Given the description of an element on the screen output the (x, y) to click on. 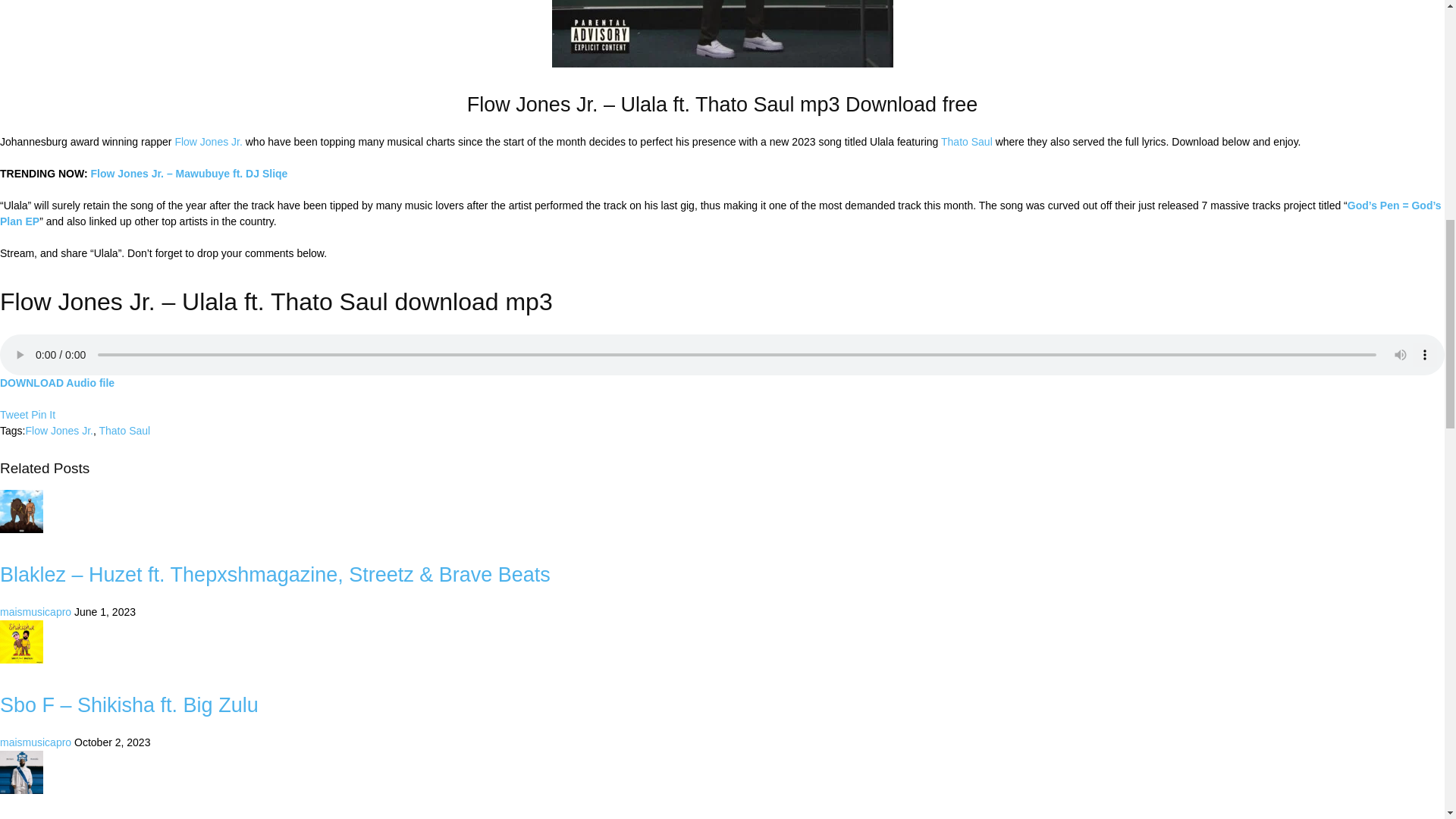
Flow Jones Jr. (207, 141)
Thato Saul (966, 141)
Posts by maismusicapro (35, 612)
Pin It (42, 414)
Cassper Nyovest - Candlelight mp3 download (21, 772)
maismusicapro (35, 612)
Tweet (13, 414)
Flow Jones Jr. (58, 430)
DOWNLOAD Audio file (57, 382)
maismusicapro (35, 742)
